Given the description of an element on the screen output the (x, y) to click on. 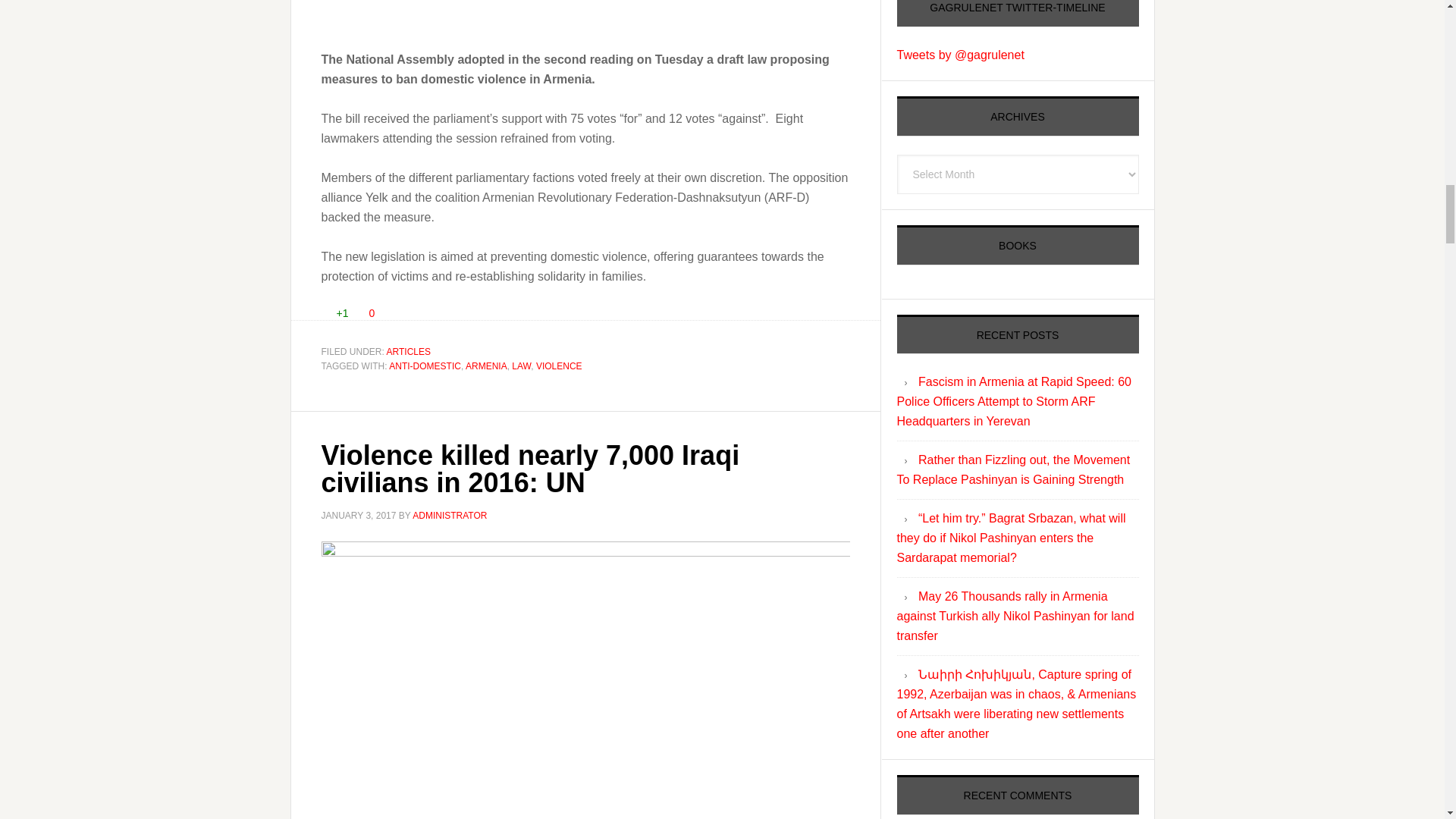
ANTI-DOMESTIC (424, 366)
ARTICLES (408, 351)
ARMENIA (485, 366)
Like (326, 312)
VIOLENCE (558, 366)
LAW (521, 366)
Unlike (358, 312)
ADMINISTRATOR (449, 515)
Violence killed nearly 7,000 Iraqi civilians in 2016: UN (530, 468)
